Given the description of an element on the screen output the (x, y) to click on. 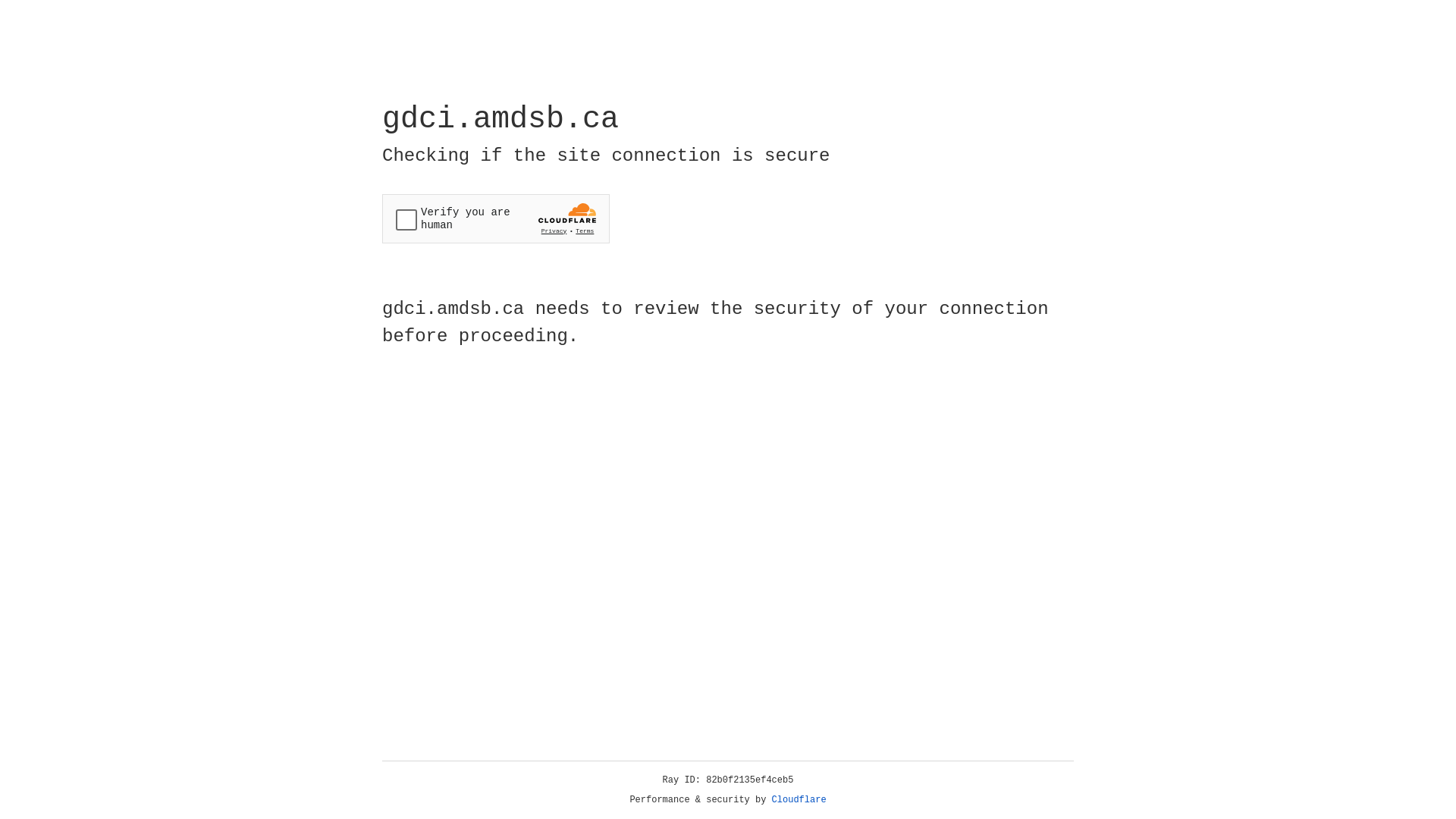
Cloudflare Element type: text (798, 799)
Widget containing a Cloudflare security challenge Element type: hover (495, 218)
